Given the description of an element on the screen output the (x, y) to click on. 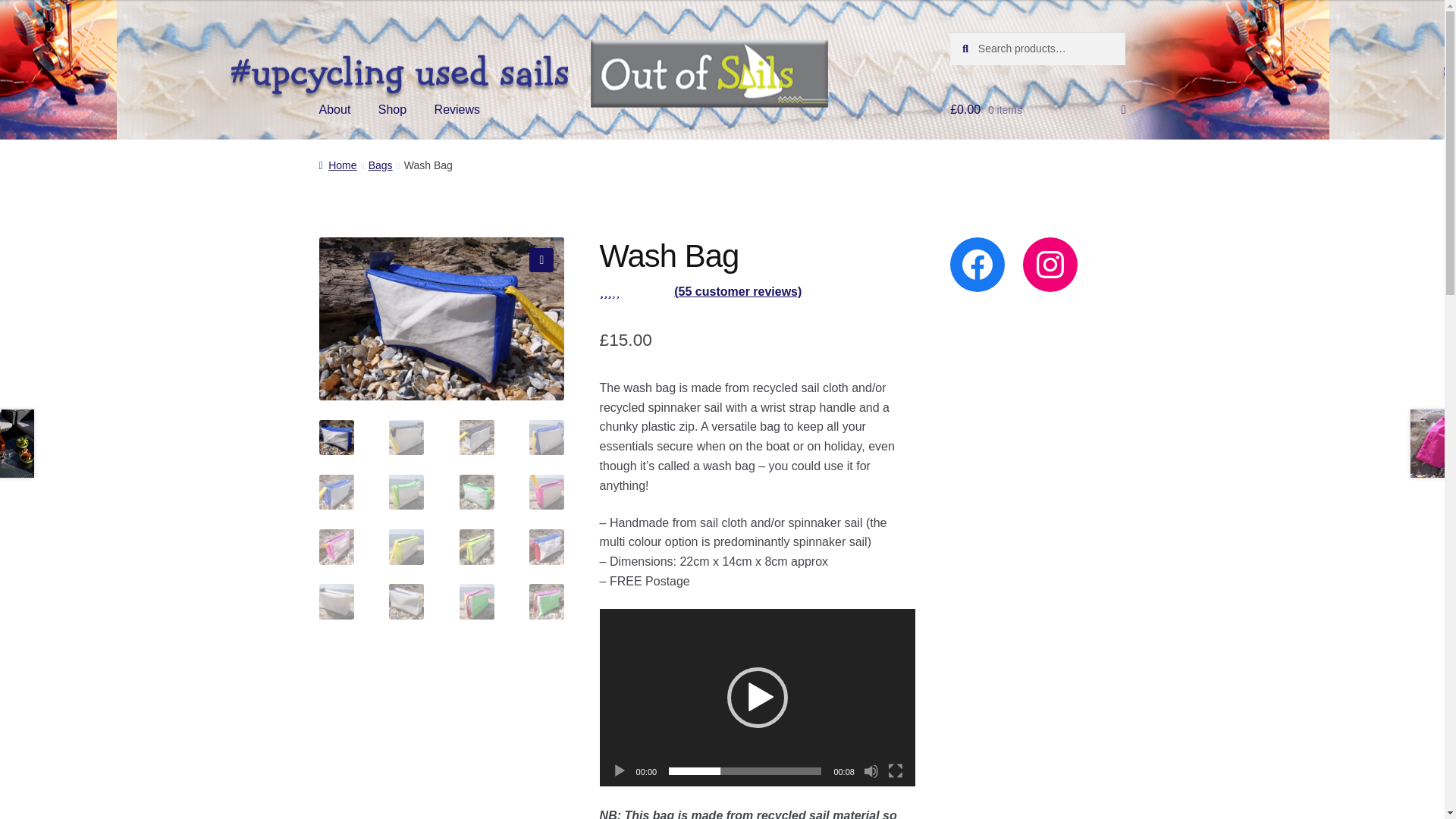
DSC08381 (441, 319)
DSC08420 (686, 319)
Home (337, 164)
Bags (380, 164)
View your shopping basket (1037, 109)
Reviews (457, 109)
About (334, 109)
